Given the description of an element on the screen output the (x, y) to click on. 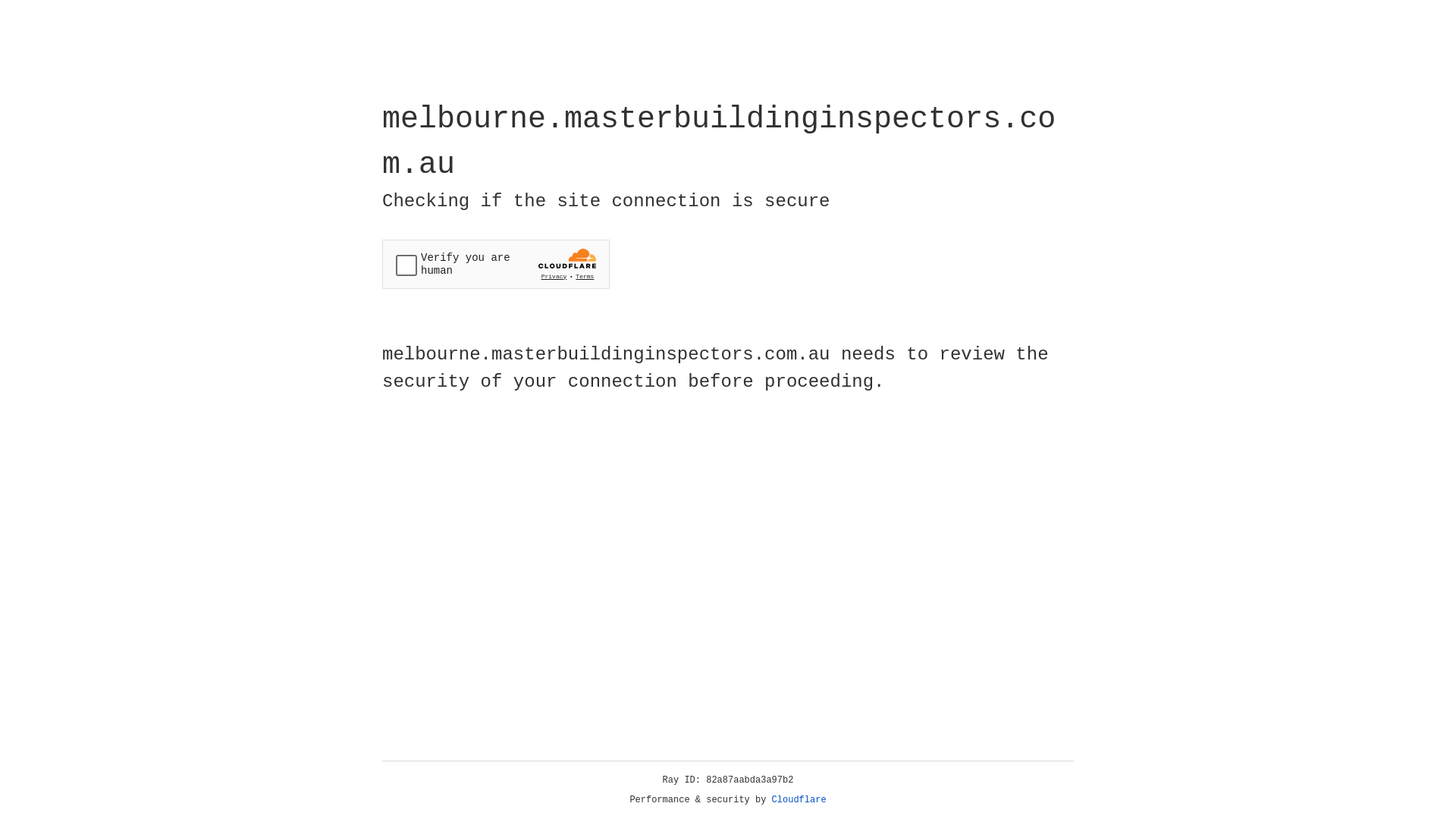
Cloudflare Element type: text (798, 799)
Widget containing a Cloudflare security challenge Element type: hover (495, 263)
